Given the description of an element on the screen output the (x, y) to click on. 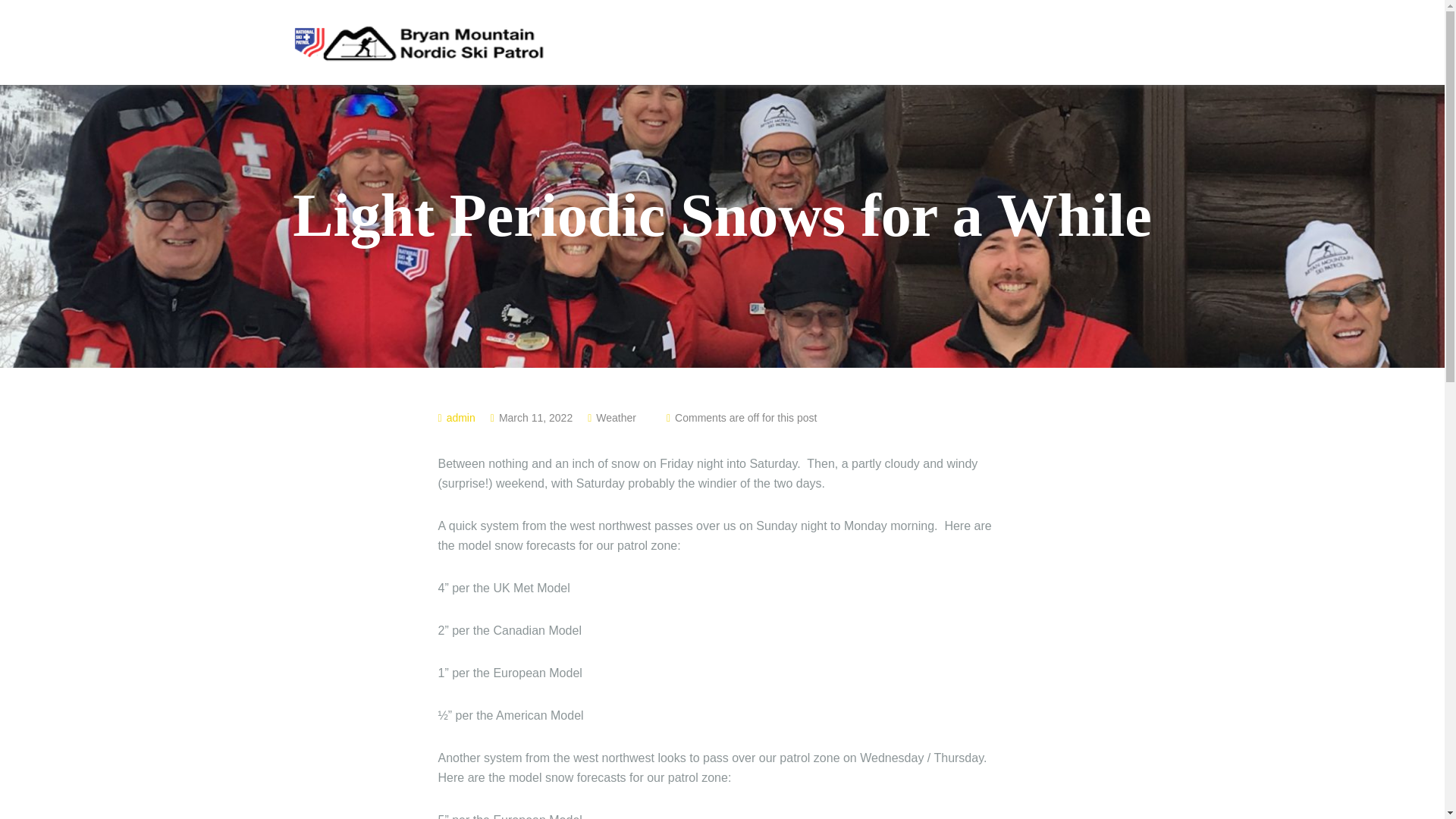
BMNSP (416, 41)
Members (1044, 44)
Home (813, 44)
Calendar (1129, 43)
Courses (957, 44)
Join (881, 44)
